Given the description of an element on the screen output the (x, y) to click on. 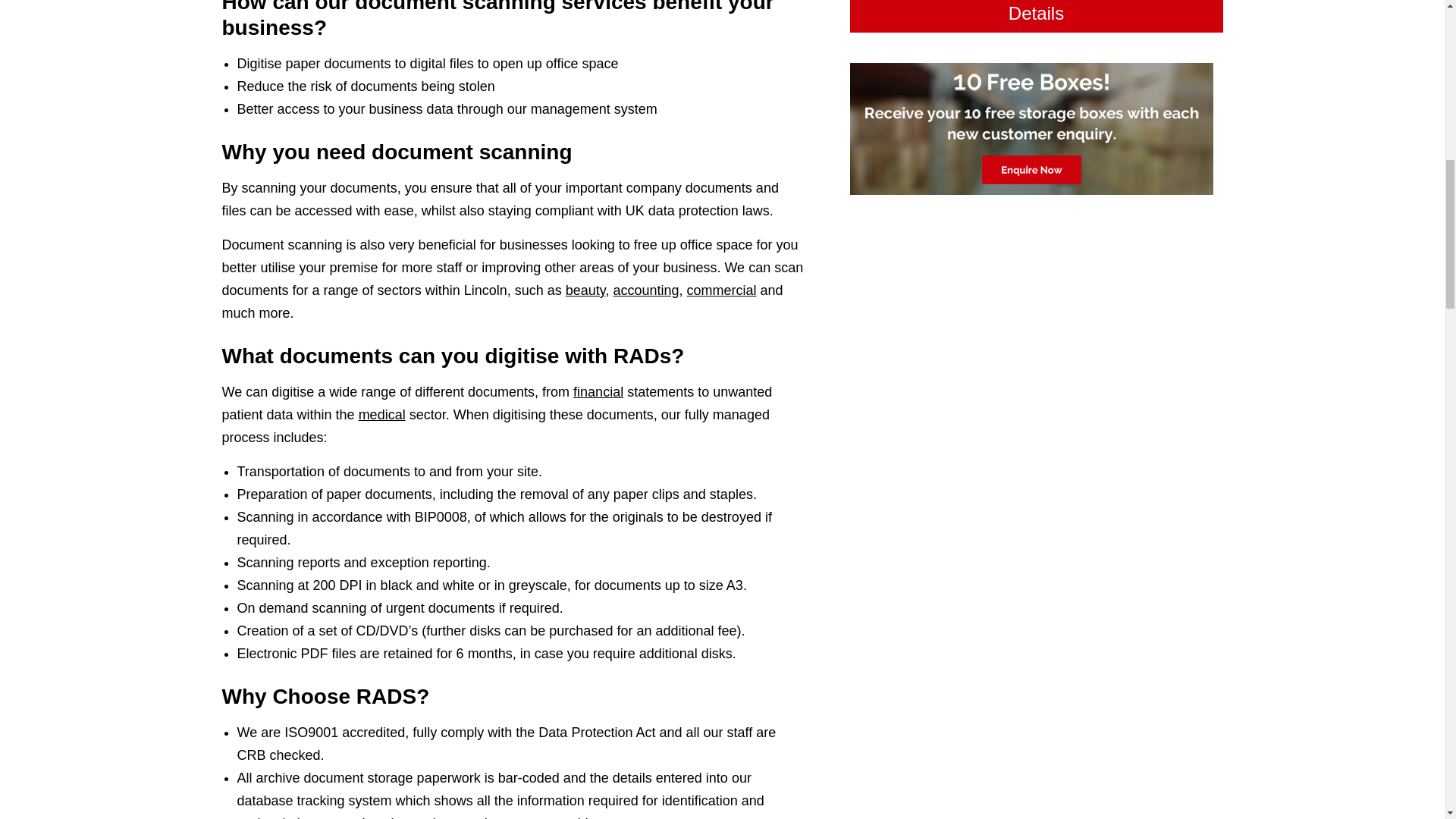
financial (598, 391)
medical (382, 414)
beauty (585, 290)
accounting (645, 290)
commercial (722, 290)
